Given the description of an element on the screen output the (x, y) to click on. 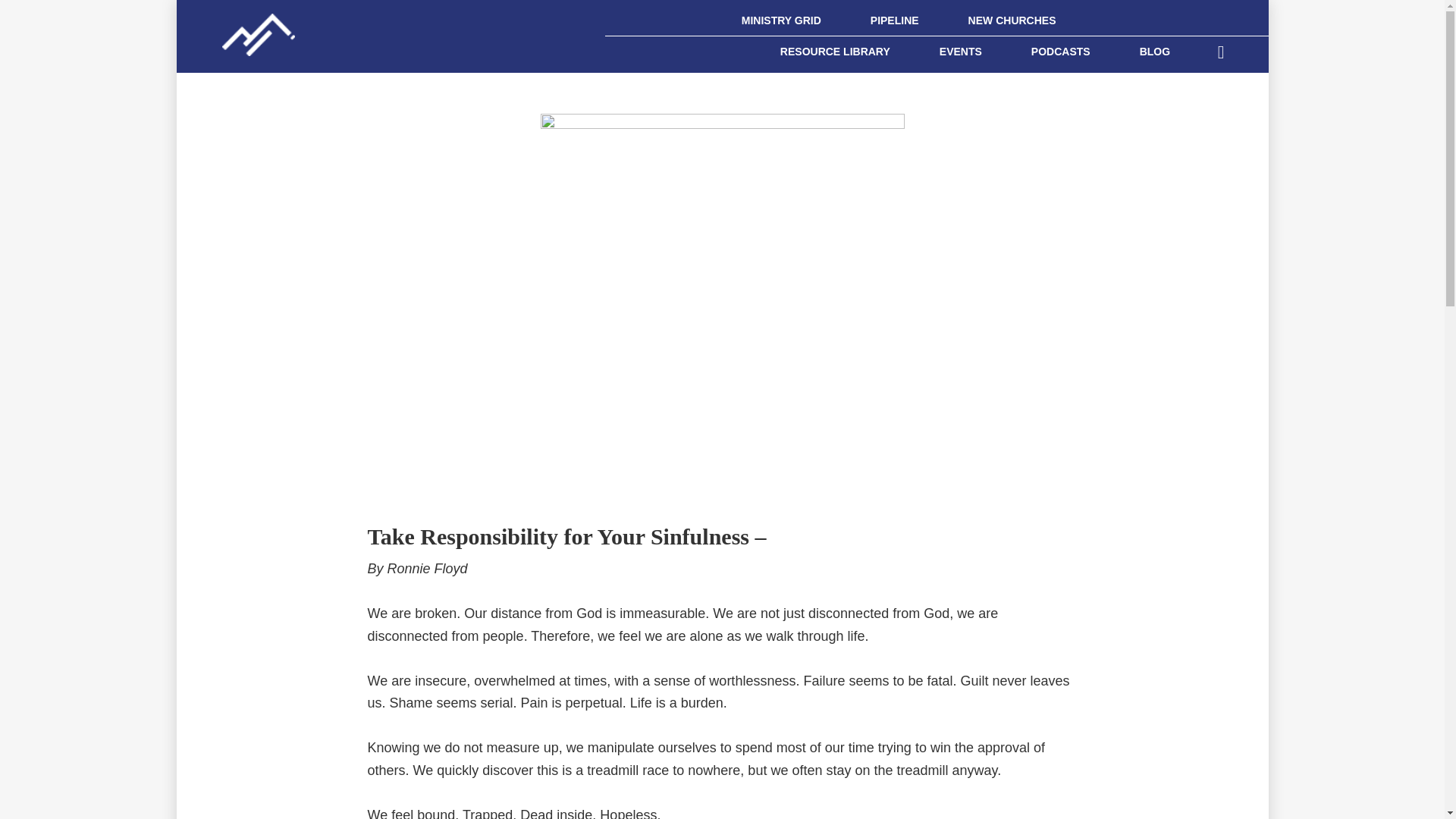
RESOURCE LIBRARY (834, 50)
SHOW SEARCH (1220, 50)
NEW CHURCHES (1011, 20)
MINISTRY GRID (781, 20)
Lifeway Leadership (246, 26)
PIPELINE (894, 20)
PODCASTS (1061, 50)
EVENTS (960, 50)
BLOG (1154, 50)
